Given the description of an element on the screen output the (x, y) to click on. 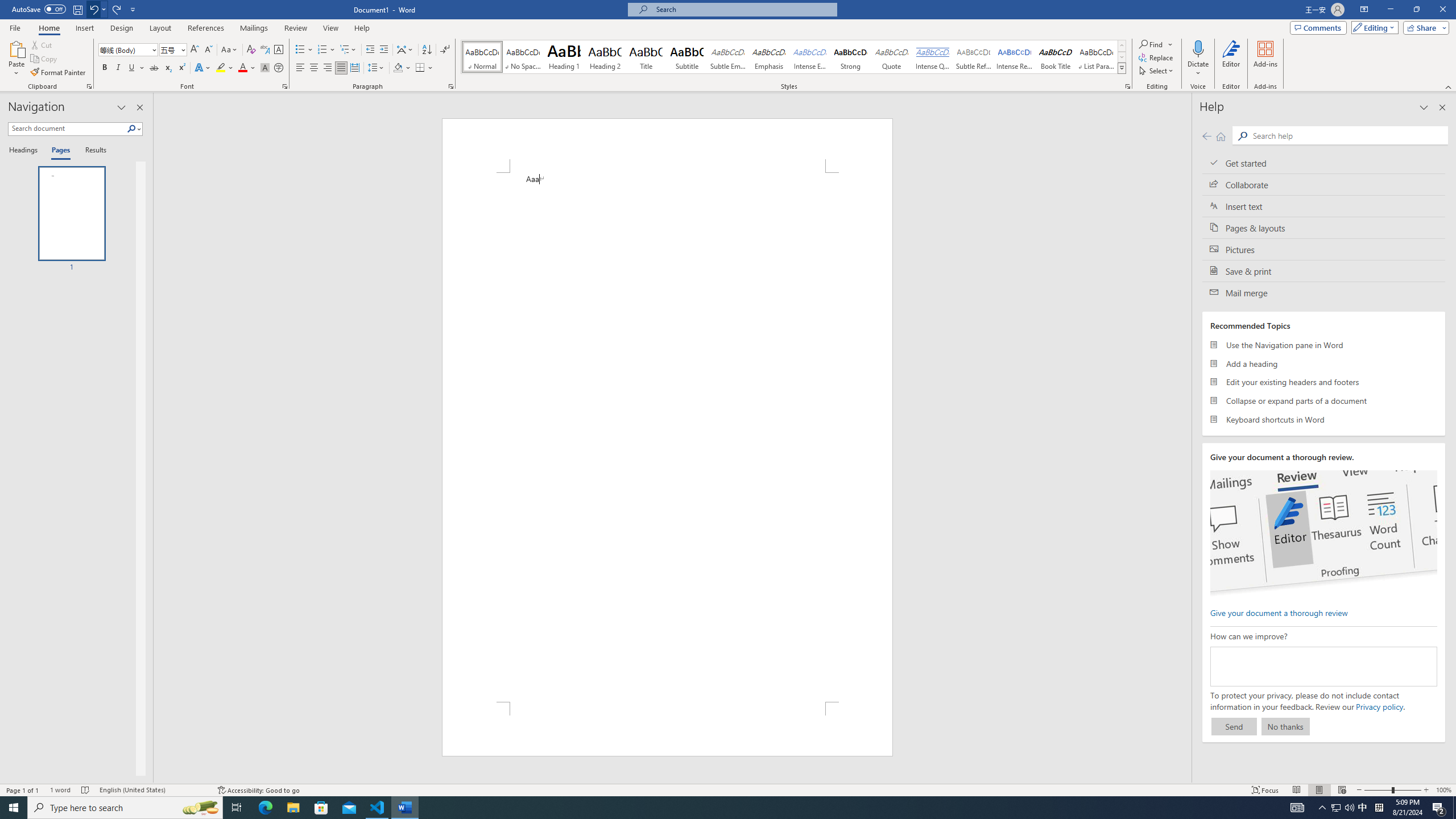
Character Border (278, 49)
Text Effects and Typography (202, 67)
Superscript (180, 67)
Pictures (1323, 249)
Sort... (426, 49)
Subtle Emphasis (727, 56)
Intense Quote (932, 56)
No thanks (1285, 726)
